Given the description of an element on the screen output the (x, y) to click on. 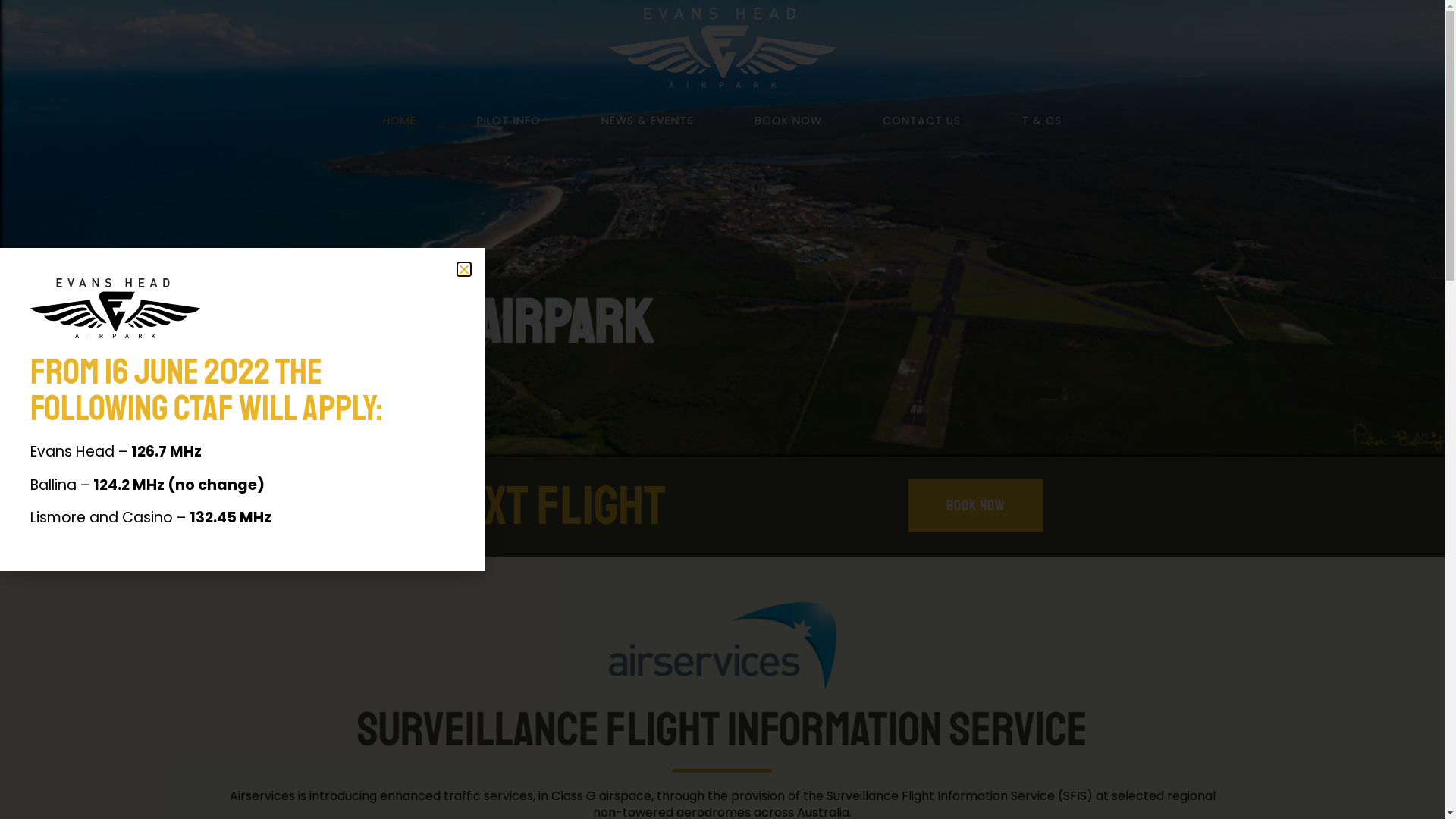
HOME Element type: text (399, 120)
NEWS & EVENTS Element type: text (647, 120)
T & CS Element type: text (1041, 120)
BOOK NOW Element type: text (788, 120)
Book Now Element type: text (975, 505)
CONTACT US Element type: text (921, 120)
Evans Head Airpark,Airpark - Home - Evans Head Airpark Element type: hover (721, 646)
PILOT INFO Element type: text (508, 120)
